Given the description of an element on the screen output the (x, y) to click on. 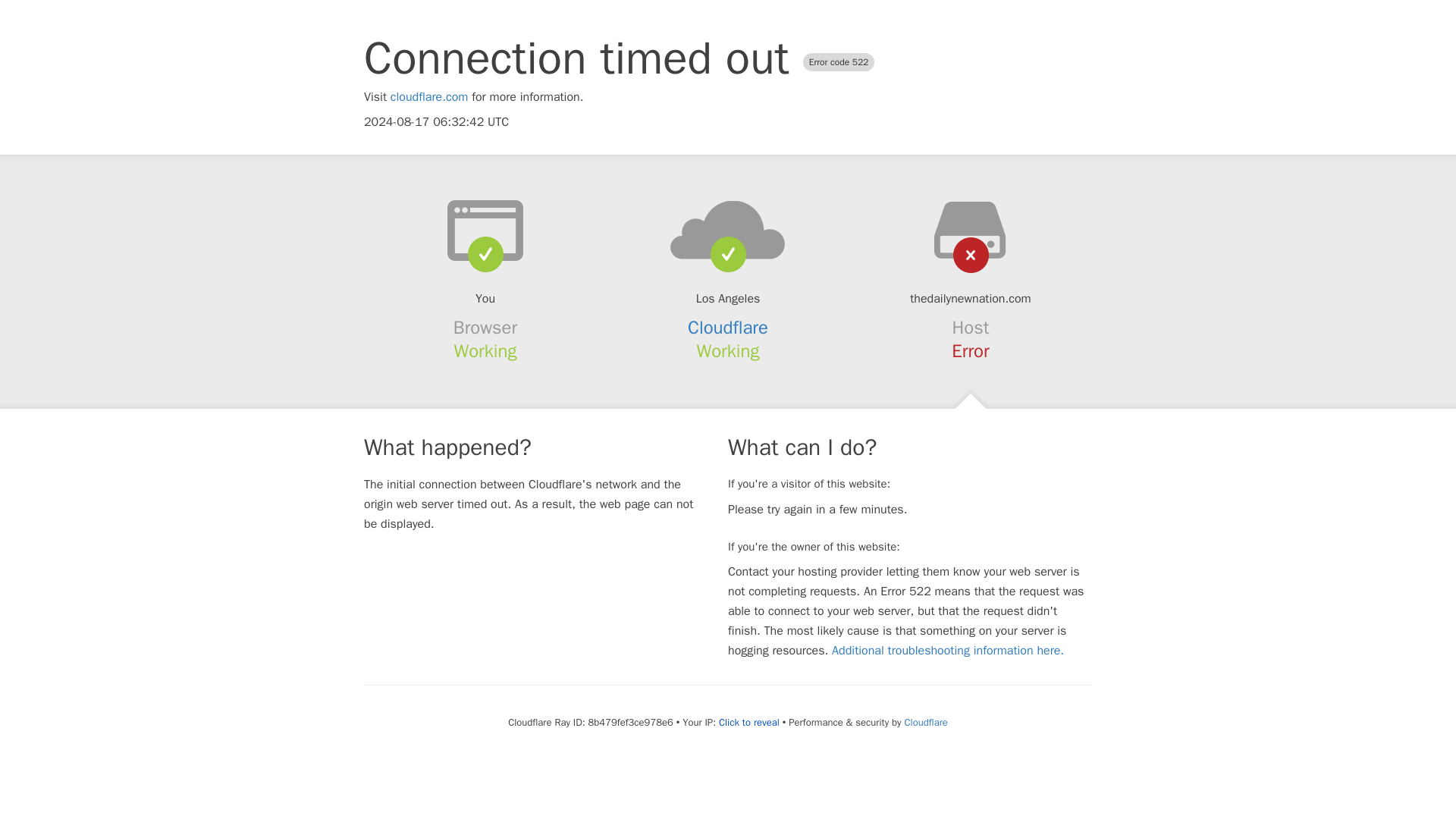
Cloudflare (925, 721)
Cloudflare (727, 327)
cloudflare.com (429, 96)
Additional troubleshooting information here. (947, 650)
Click to reveal (748, 722)
